Given the description of an element on the screen output the (x, y) to click on. 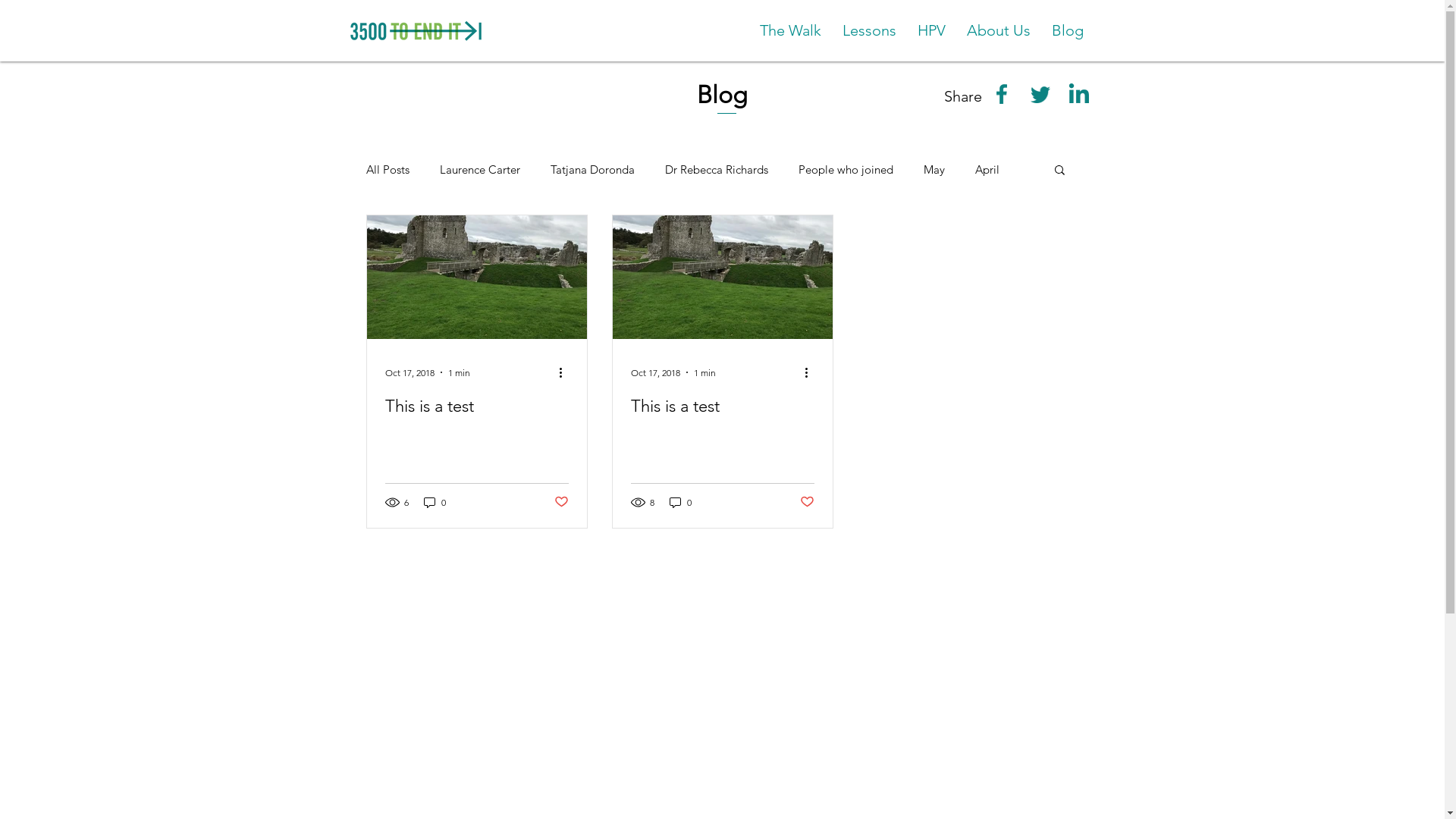
May Element type: text (933, 169)
Dr Rebecca Richards Element type: text (715, 169)
About Us Element type: text (997, 30)
Tatjana Doronda Element type: text (592, 169)
0 Element type: text (679, 502)
Post not marked as liked Element type: text (806, 502)
0 Element type: text (433, 502)
Blog Element type: text (1066, 30)
All Posts Element type: text (386, 169)
April Element type: text (987, 169)
Post not marked as liked Element type: text (560, 502)
Lessons Element type: text (868, 30)
Laurence Carter Element type: text (479, 169)
This is a test Element type: text (476, 406)
People who joined Element type: text (844, 169)
This is a test Element type: text (722, 406)
